Given the description of an element on the screen output the (x, y) to click on. 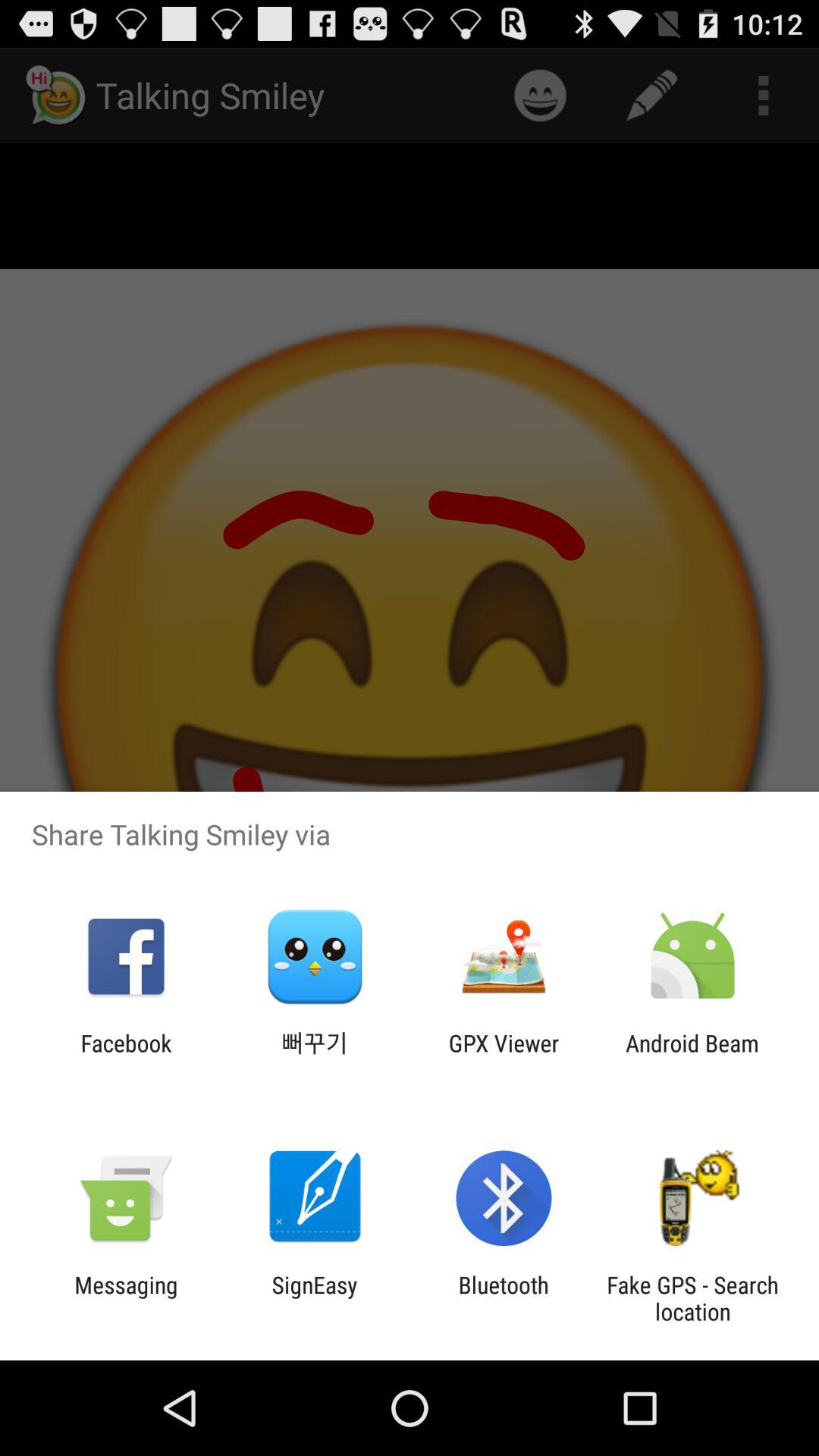
choose the signeasy app (314, 1298)
